Given the description of an element on the screen output the (x, y) to click on. 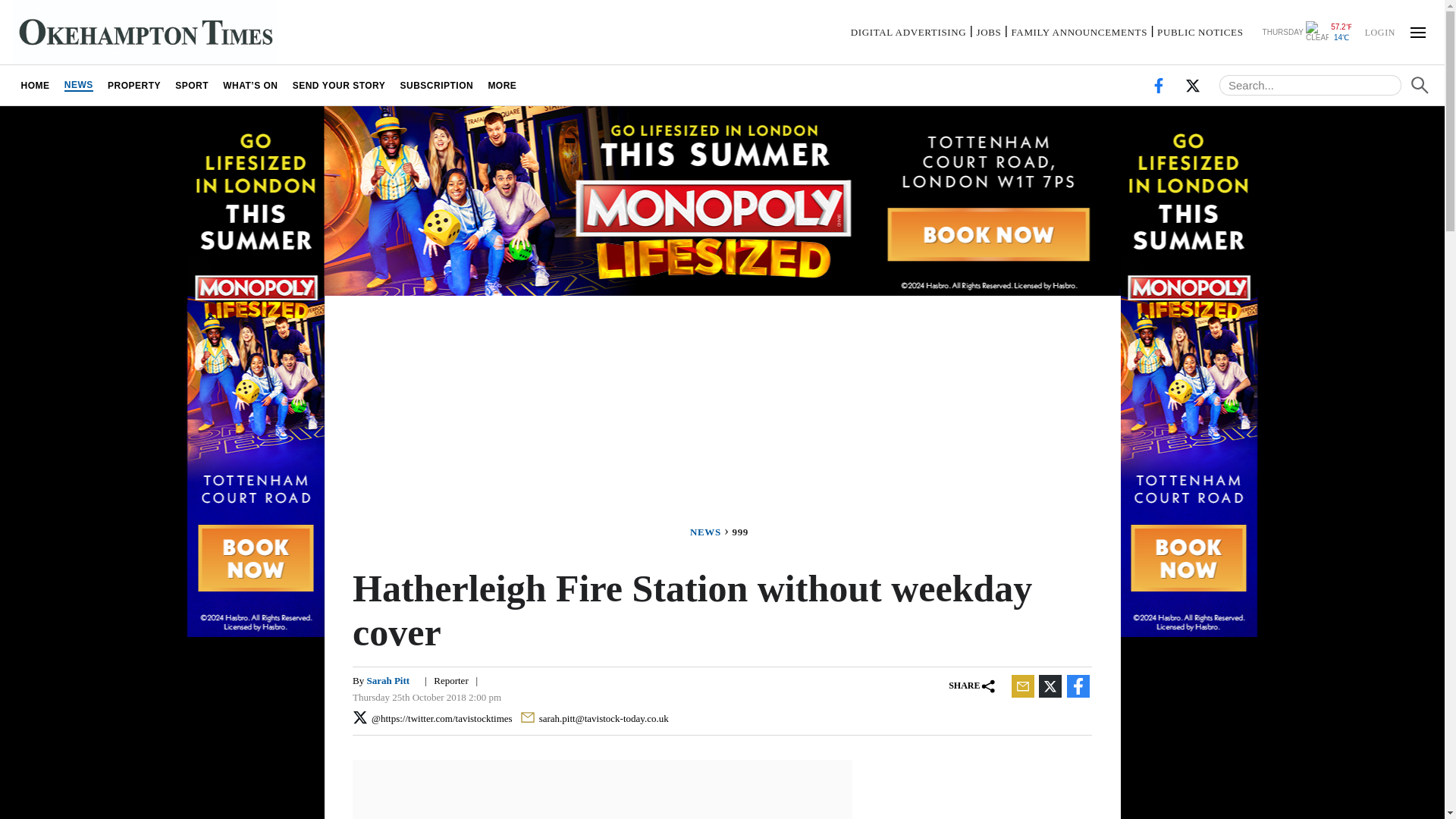
SUBSCRIPTION (436, 85)
SEND YOUR STORY (339, 85)
HOME (34, 85)
LOGIN (1379, 31)
SPORT (191, 85)
PUBLIC NOTICES (1200, 32)
PROPERTY (133, 85)
Sarah Pitt (387, 680)
NEWS (78, 85)
